Given the description of an element on the screen output the (x, y) to click on. 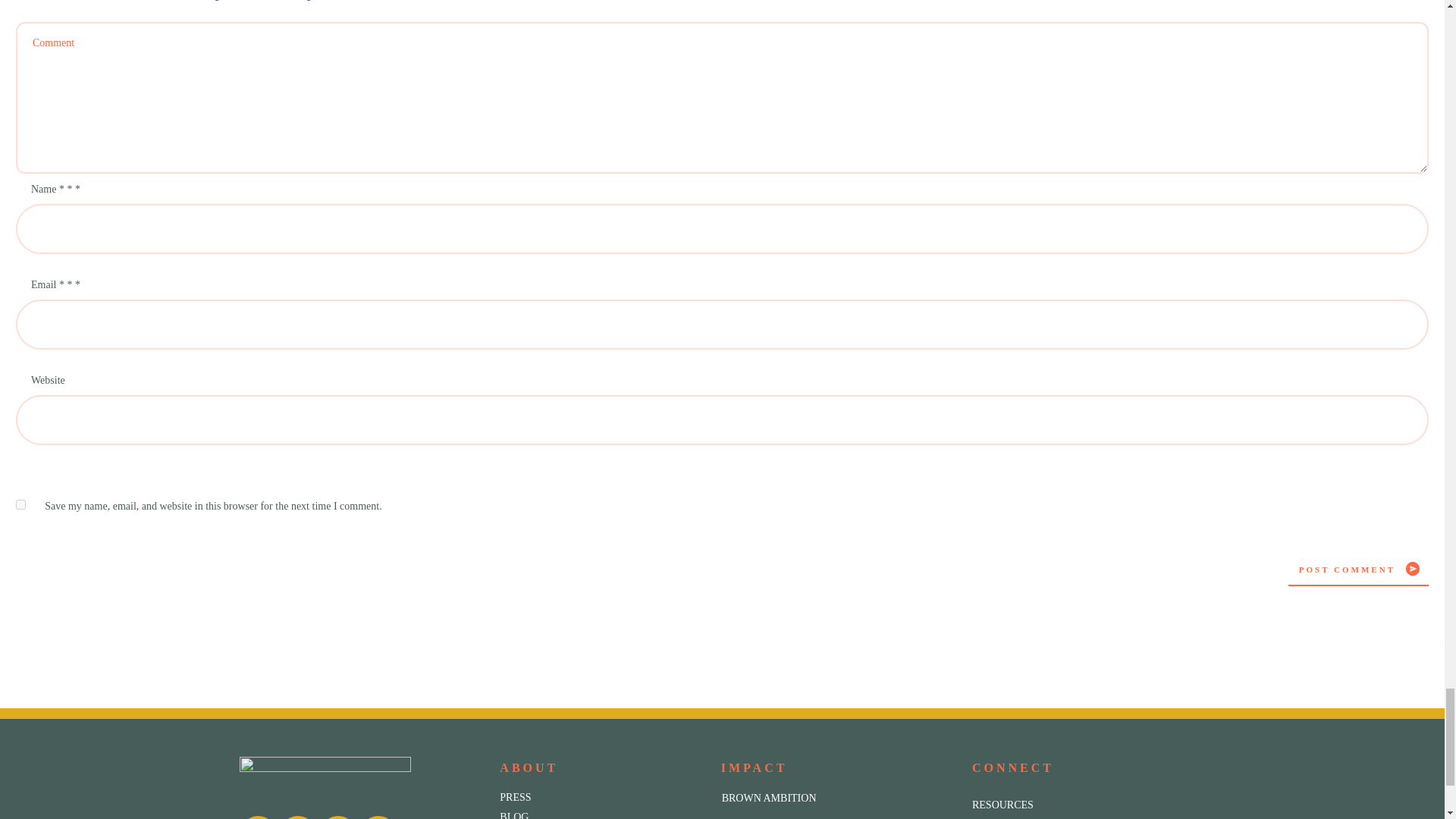
BROWN AMBITION (769, 797)
yes (21, 504)
BLOG (513, 815)
POST COMMENT (1358, 568)
LIVE RICHER ACADEMY (782, 817)
PRESS (515, 797)
